Given the description of an element on the screen output the (x, y) to click on. 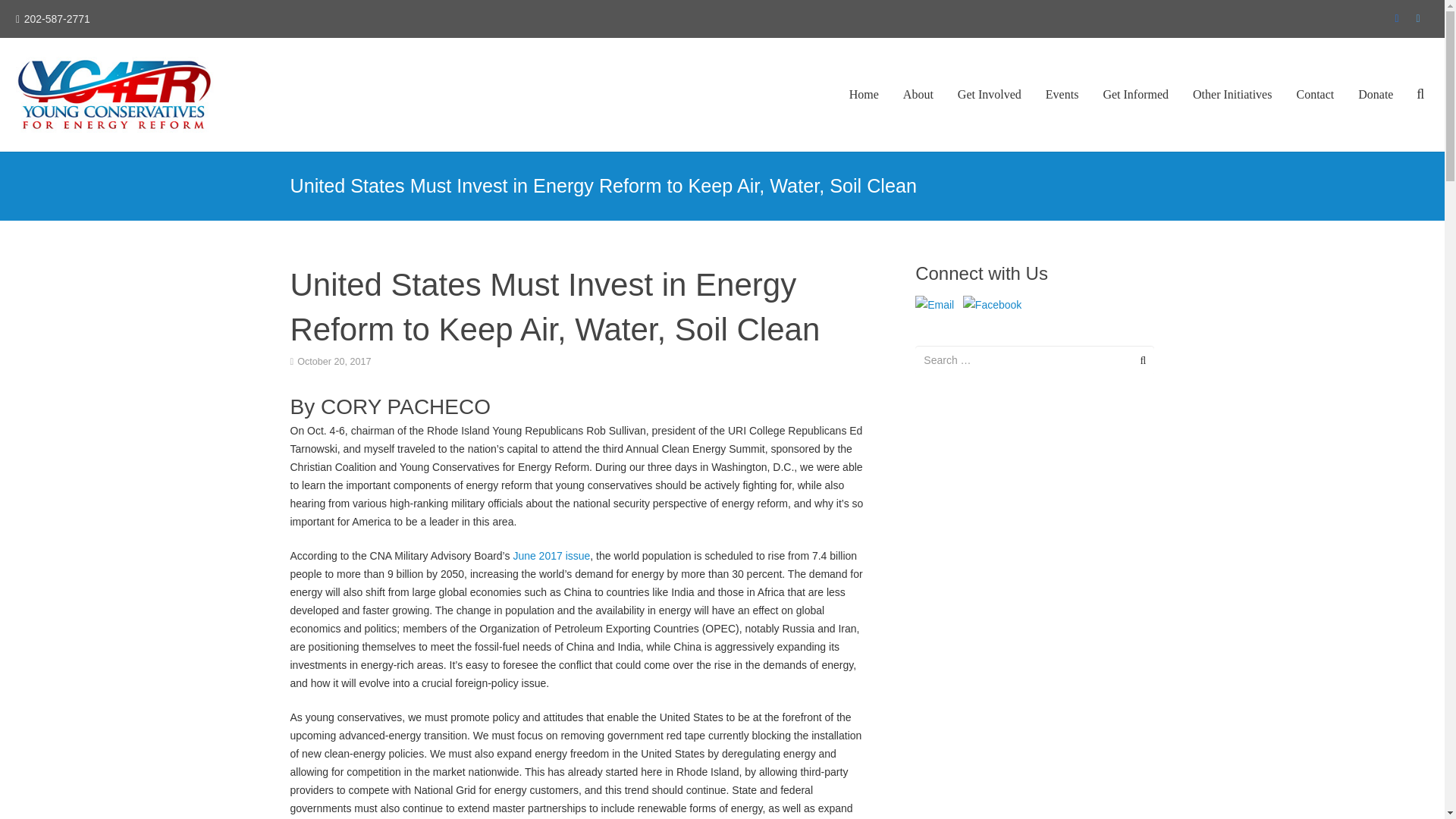
Other Initiatives (1232, 94)
Twitter (1417, 18)
Email (934, 304)
Facebook (992, 304)
Search (1139, 360)
Search (1139, 360)
Facebook (1396, 18)
June 2017 issue (550, 555)
